Given the description of an element on the screen output the (x, y) to click on. 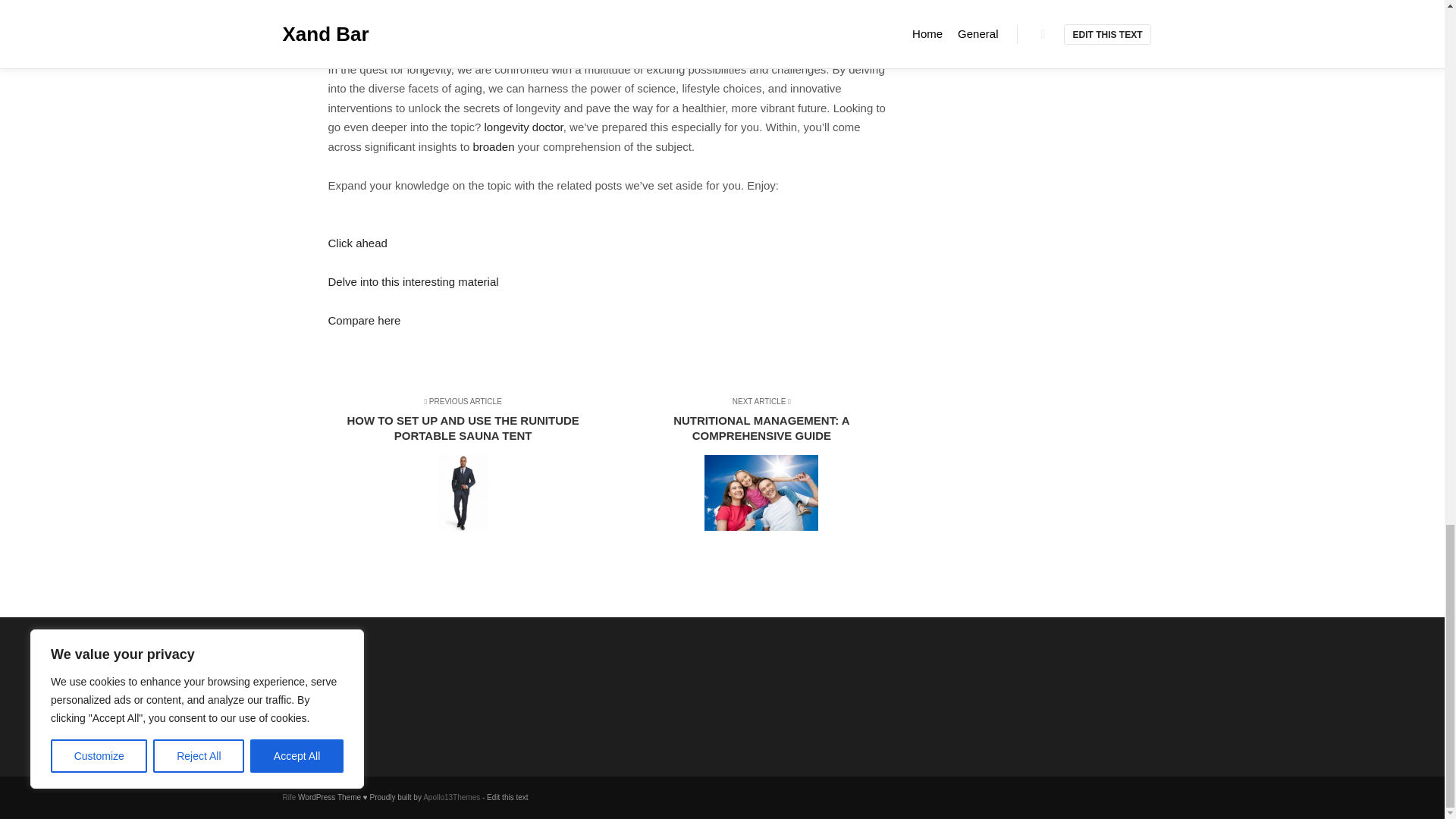
Delve into this interesting material (412, 281)
longevity doctor (522, 126)
broaden (492, 146)
Click ahead (357, 242)
Compare here (754, 465)
About (363, 319)
